Given the description of an element on the screen output the (x, y) to click on. 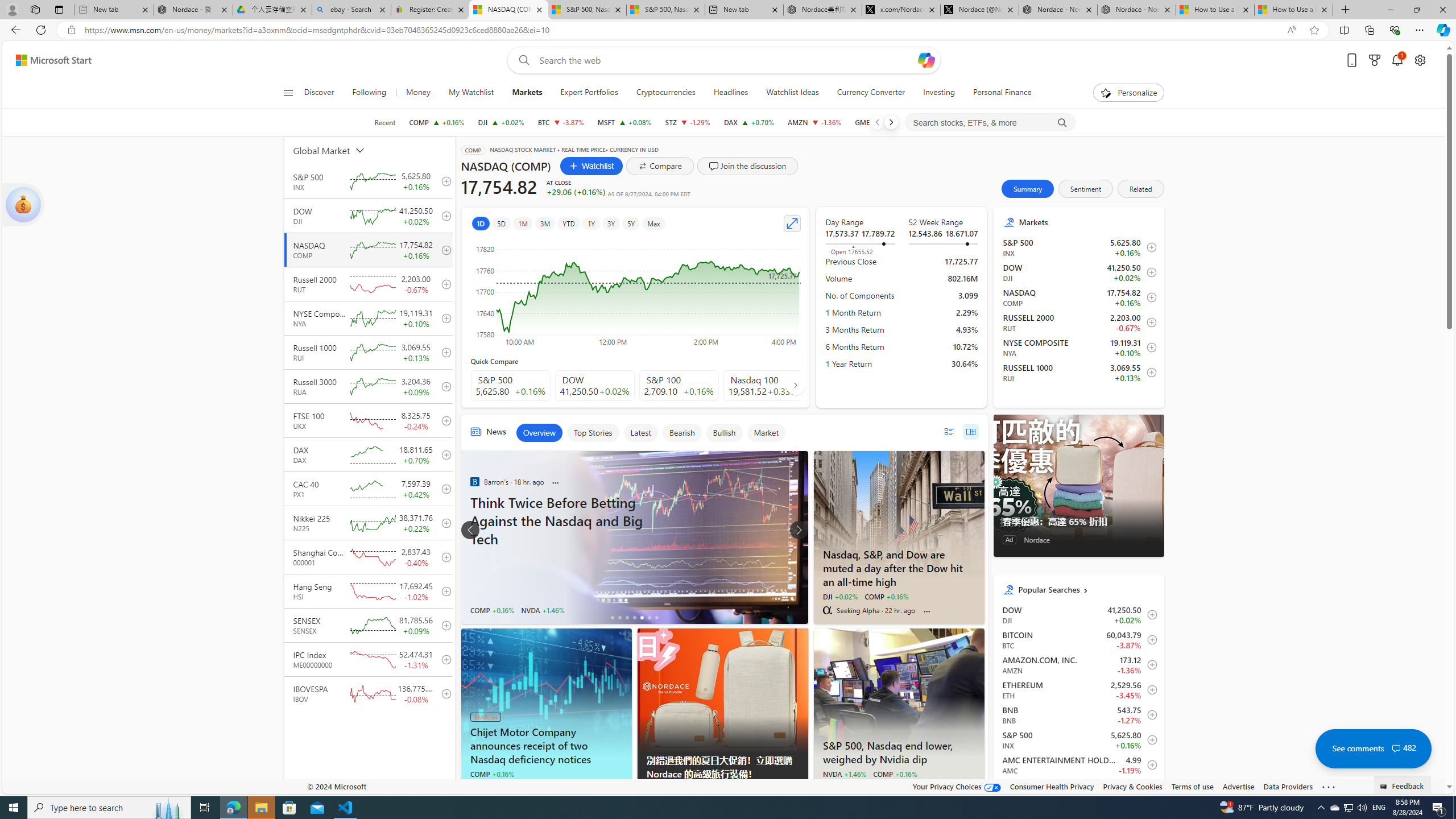
Class: notInWatclistIcon-DS-EntryPoint1-5 lightTheme (1148, 372)
Microsoft rewards (1374, 60)
Reuters (826, 786)
Advertise (1238, 785)
Related (1140, 188)
Summary (1027, 188)
Consumer Health Privacy (1051, 785)
1M (522, 223)
Your Privacy Choices (956, 785)
Your Privacy Choices (956, 786)
